Given the description of an element on the screen output the (x, y) to click on. 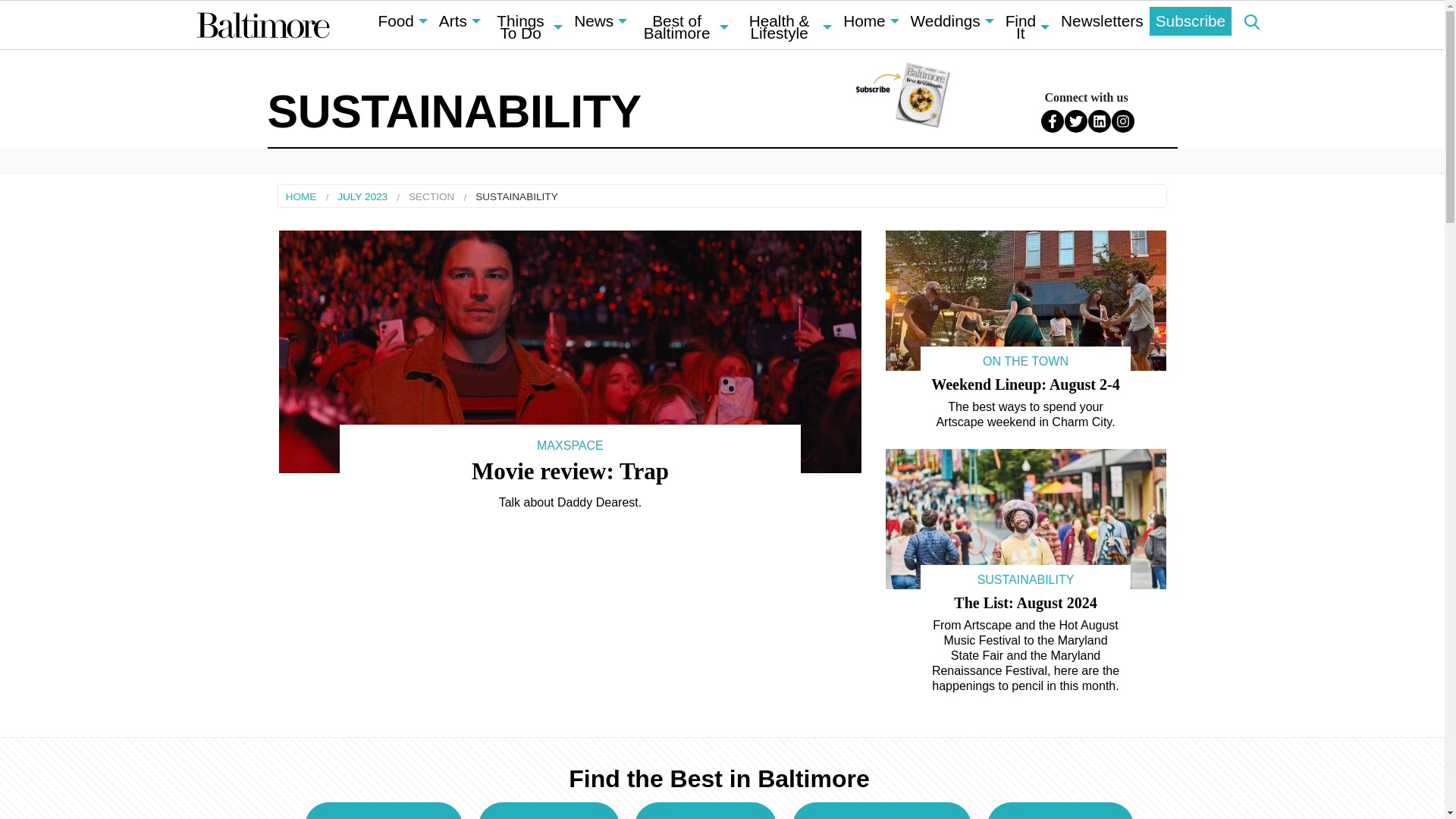
News (599, 21)
Movie review: Trap (569, 470)
Movie review: Trap (570, 350)
The List: August 2024 (1024, 602)
Weekend Lineup: August 2-4 (1025, 384)
Home (870, 21)
Weddings (951, 21)
Weekend Lineup: August 2-4 (1025, 299)
Arts (459, 21)
The List: August 2024 (1025, 517)
